Given the description of an element on the screen output the (x, y) to click on. 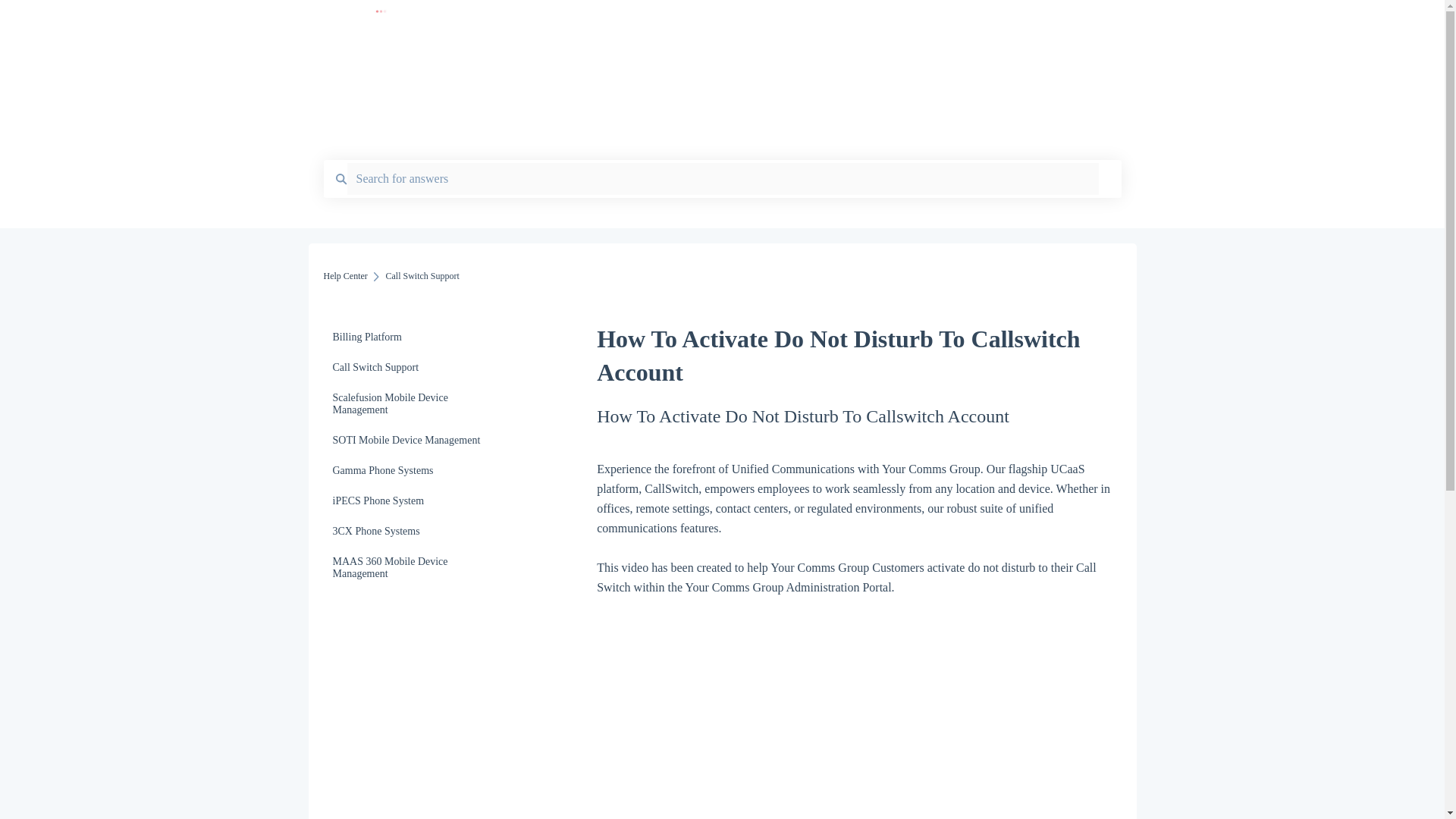
MAAS 360 Mobile Device Management (414, 567)
Call Switch Support (414, 367)
Scalefusion Mobile Device Management (414, 404)
SOTI Mobile Device Management (414, 440)
iPECS Phone System (414, 501)
3CX Phone Systems (414, 531)
Gamma Phone Systems (414, 470)
Help Center (344, 276)
Help Center (609, 21)
Billing Platform (414, 337)
